Given the description of an element on the screen output the (x, y) to click on. 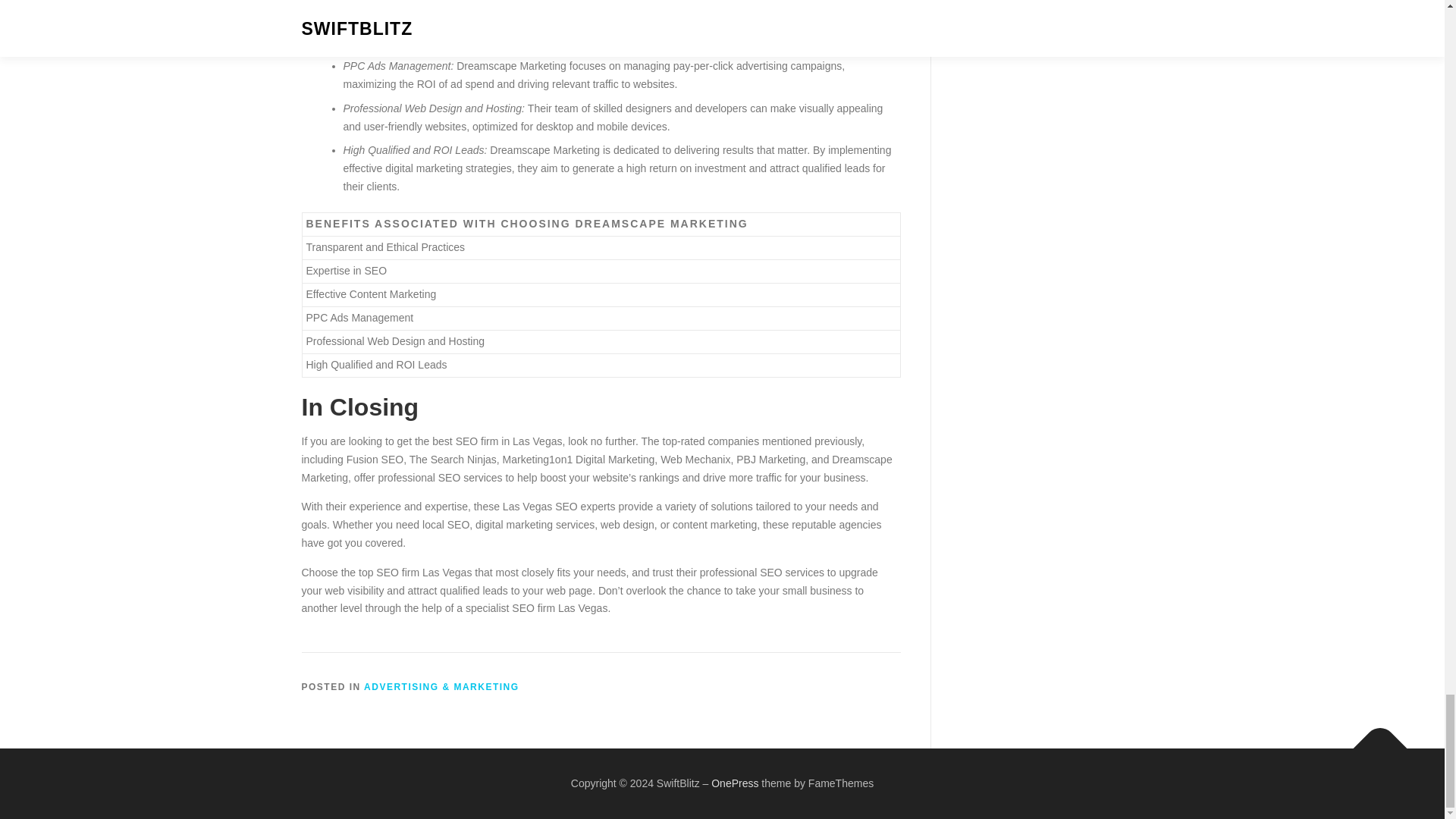
Back To Top (1372, 740)
